Given the description of an element on the screen output the (x, y) to click on. 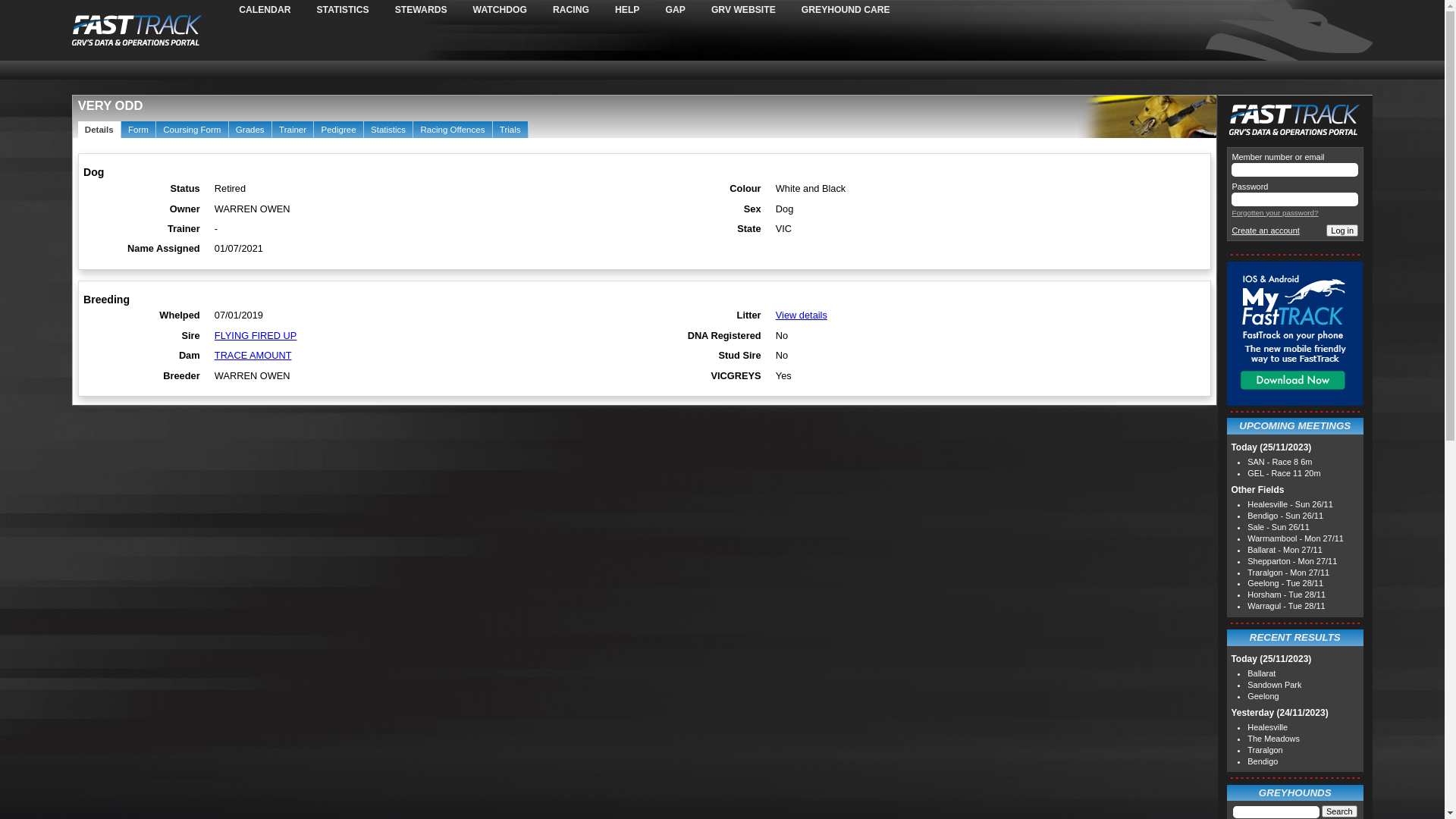
Warrnambool - Mon 27/11 Element type: text (1295, 537)
GRV WEBSITE Element type: text (756, 9)
STEWARDS Element type: text (434, 9)
The Meadows Element type: text (1273, 738)
Traralgon Element type: text (1264, 749)
RACING Element type: text (583, 9)
Coursing Form Element type: text (192, 129)
GEL - Race 11 20m Element type: text (1283, 472)
GAP Element type: text (687, 9)
Trials Element type: text (509, 129)
GREYHOUND CARE Element type: text (858, 9)
Shepparton - Mon 27/11 Element type: text (1291, 560)
Horsham - Tue 28/11 Element type: text (1286, 594)
Details Element type: text (99, 129)
Ballarat - Mon 27/11 Element type: text (1284, 549)
TRACE AMOUNT Element type: text (252, 354)
Racing Offences Element type: text (452, 129)
Grades Element type: text (250, 129)
Healesville - Sun 26/11 Element type: text (1289, 503)
Geelong - Tue 28/11 Element type: text (1285, 582)
Log in Element type: text (1342, 230)
Statistics Element type: text (388, 129)
View details Element type: text (801, 314)
Form Element type: text (138, 129)
WATCHDOG Element type: text (512, 9)
Bendigo - Sun 26/11 Element type: text (1285, 515)
Bendigo Element type: text (1262, 760)
Create an account Element type: text (1265, 230)
FLYING FIRED UP Element type: text (255, 335)
Traralgon - Mon 27/11 Element type: text (1288, 572)
Search Element type: text (1339, 811)
STATISTICS Element type: text (355, 9)
Pedigree Element type: text (338, 129)
Forgotten your password? Element type: text (1274, 212)
Healesville Element type: text (1267, 726)
Ballarat Element type: text (1261, 672)
Sale - Sun 26/11 Element type: text (1277, 526)
Geelong Element type: text (1262, 695)
Sandown Park Element type: text (1274, 684)
SAN - Race 8 6m Element type: text (1279, 461)
Trainer Element type: text (292, 129)
Warragul - Tue 28/11 Element type: text (1285, 605)
CALENDAR Element type: text (277, 9)
